Given the description of an element on the screen output the (x, y) to click on. 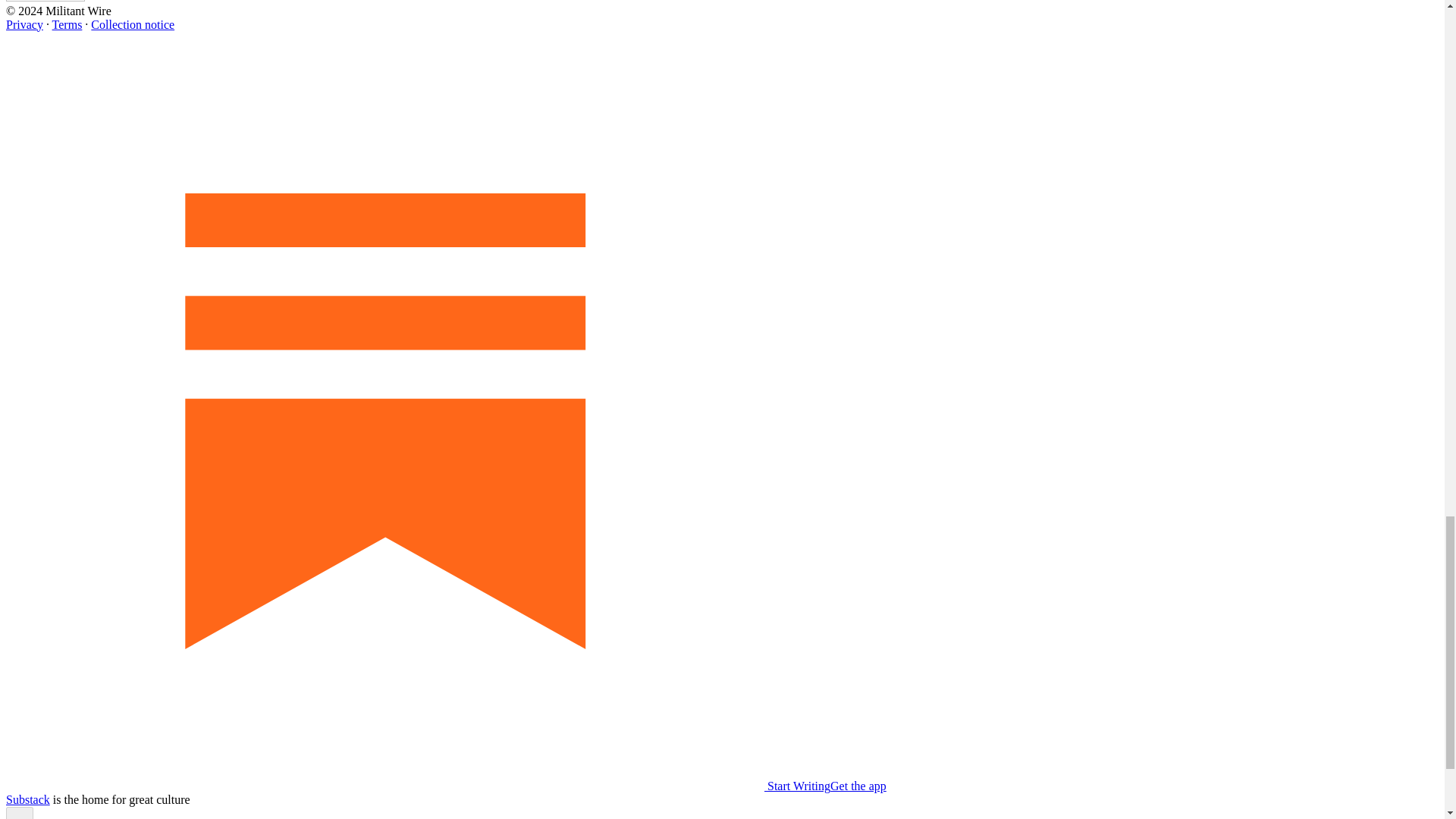
Collection notice (132, 24)
Start Writing (417, 785)
Privacy (24, 24)
Terms (67, 24)
